Given the description of an element on the screen output the (x, y) to click on. 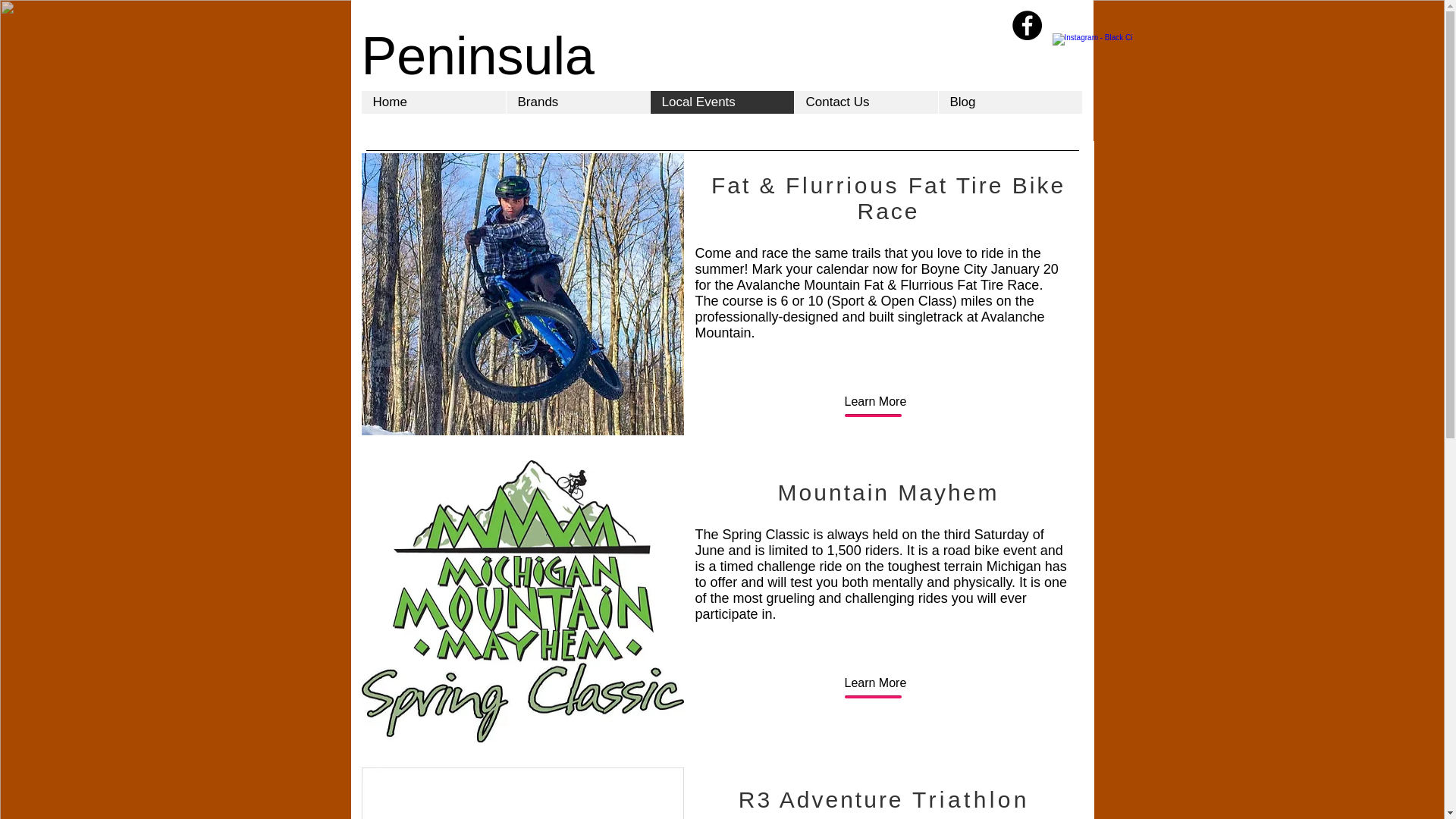
Brands (577, 101)
Blog (1009, 101)
Learn More (875, 402)
Local Events (721, 101)
Contact Us (865, 101)
Home (433, 101)
Peninsula (477, 55)
Learn More (875, 683)
